Given the description of an element on the screen output the (x, y) to click on. 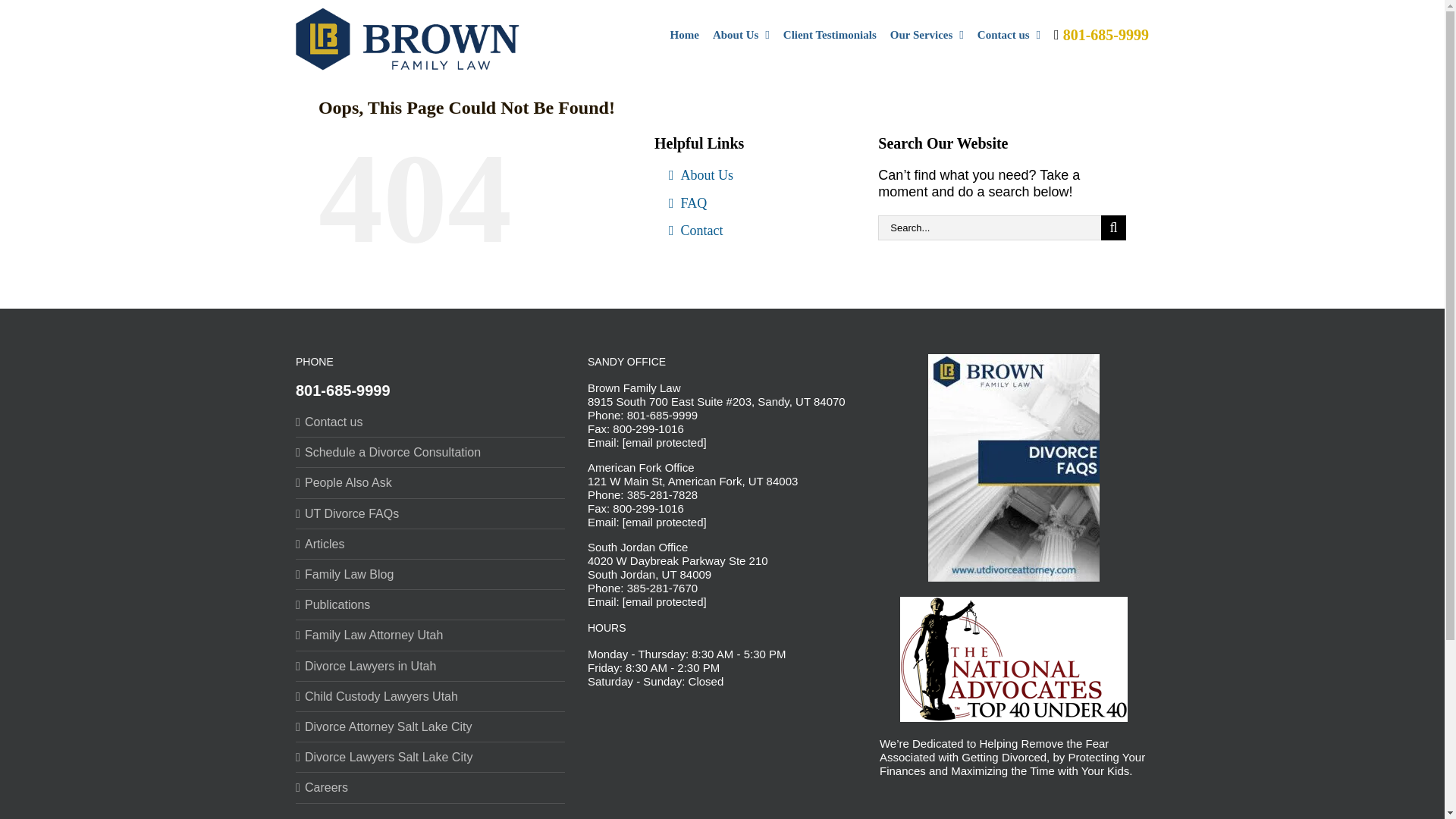
UT Divorce FAQs (430, 513)
Divorce Attorney Salt Lake City (430, 726)
Schedule a Divorce Consultation (430, 452)
Child Custody Lawyers Utah (430, 696)
Client Testimonials (829, 33)
Contact (753, 236)
People Also Ask (430, 482)
Our Services (926, 33)
Articles (430, 544)
About Us (753, 181)
